Given the description of an element on the screen output the (x, y) to click on. 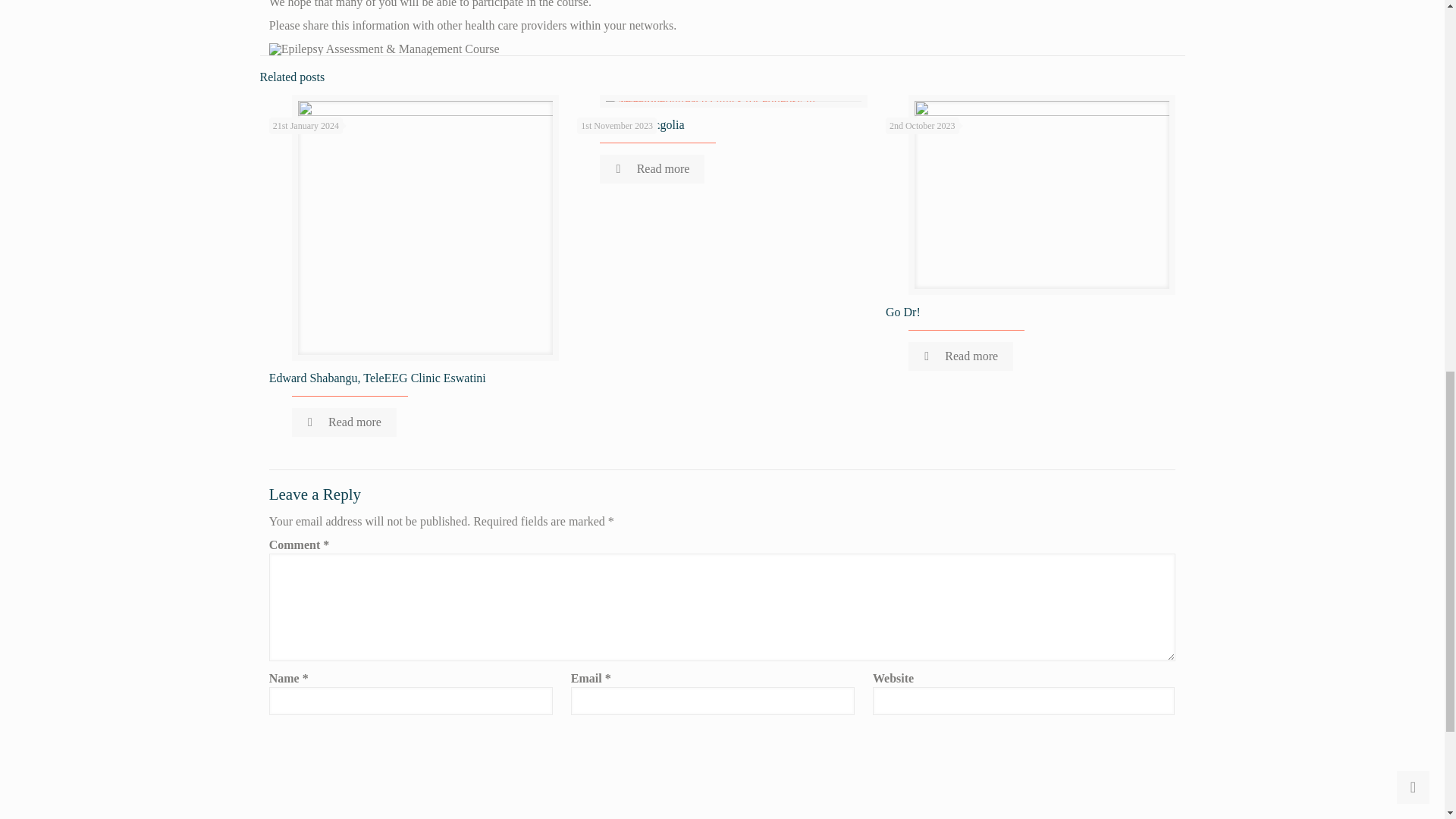
Go Dr! (902, 311)
Outreach in Mongolia (630, 124)
Read more (344, 421)
Read more (651, 168)
Edward Shabangu, TeleEEG Clinic Eswatini (377, 377)
Read more (960, 356)
